Given the description of an element on the screen output the (x, y) to click on. 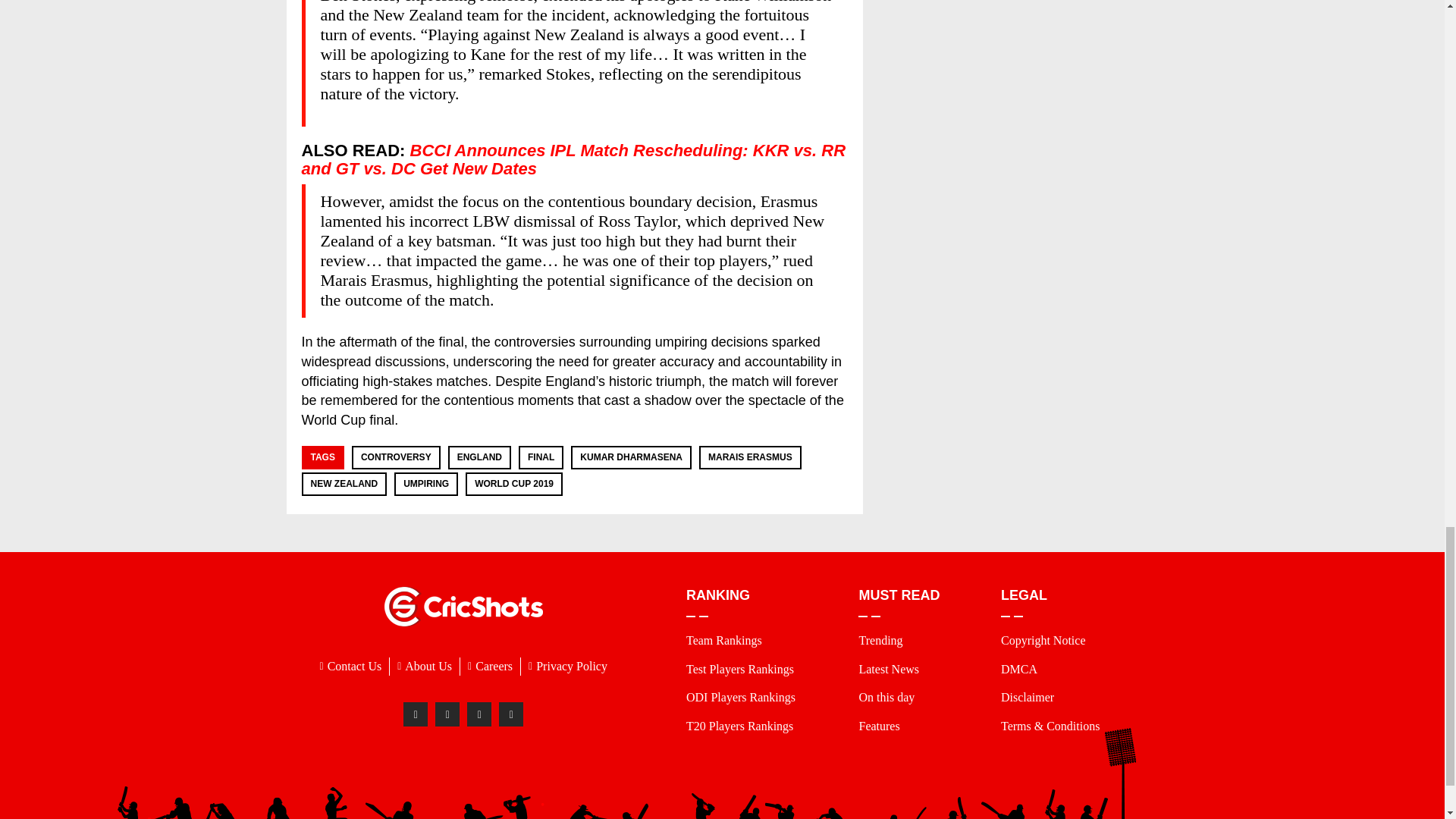
WORLD CUP 2019 (513, 483)
KUMAR DHARMASENA (630, 457)
MARAIS ERASMUS (749, 457)
UMPIRING (425, 483)
CONTROVERSY (395, 457)
NEW ZEALAND (344, 483)
ENGLAND (479, 457)
FINAL (540, 457)
